Given the description of an element on the screen output the (x, y) to click on. 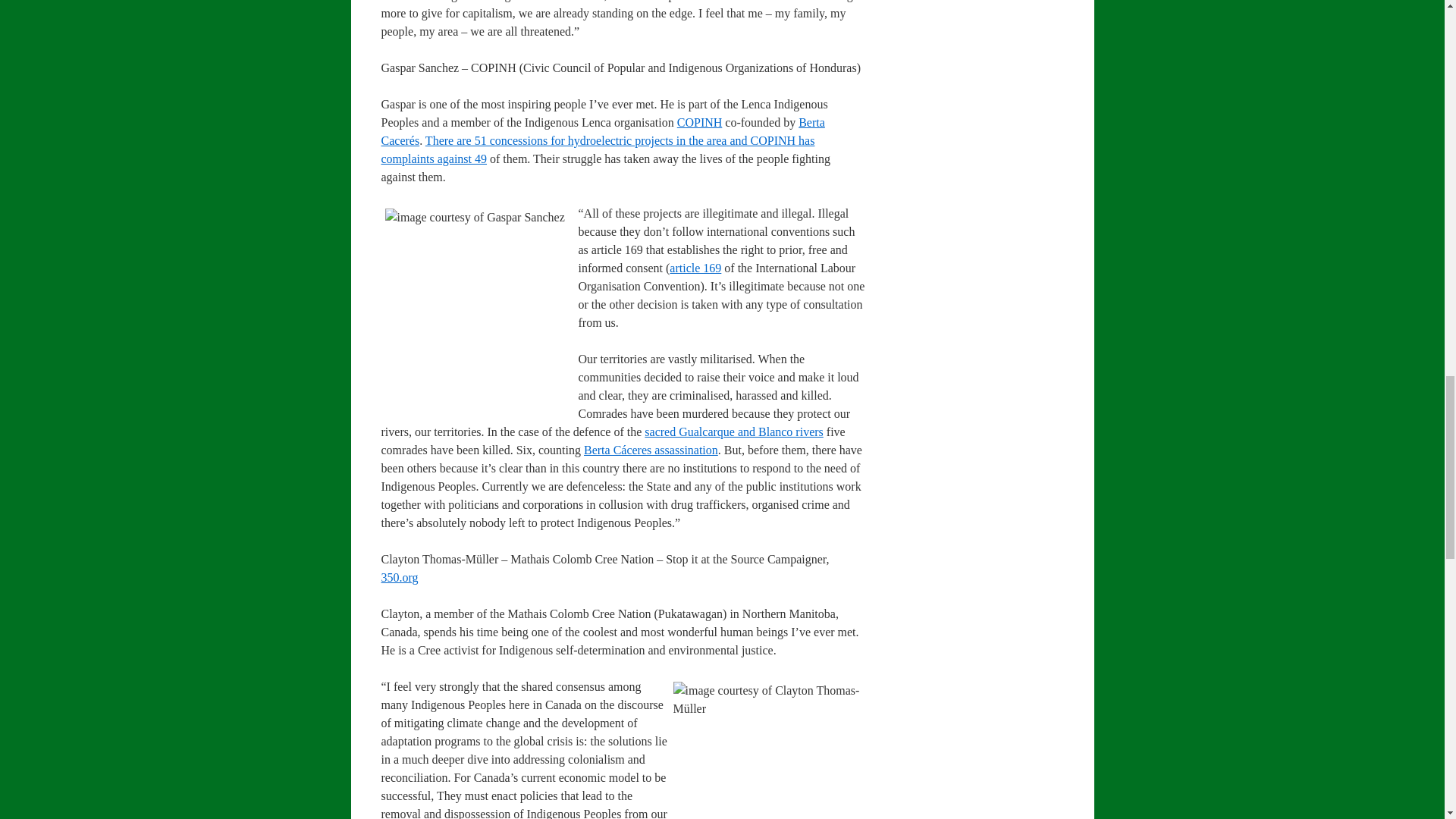
article 169 (694, 267)
350.org (398, 576)
image courtesy of Gaspar Sanchez (480, 313)
COPINH (699, 122)
sacred Gualcarque and Blanco rivers (733, 431)
